Given the description of an element on the screen output the (x, y) to click on. 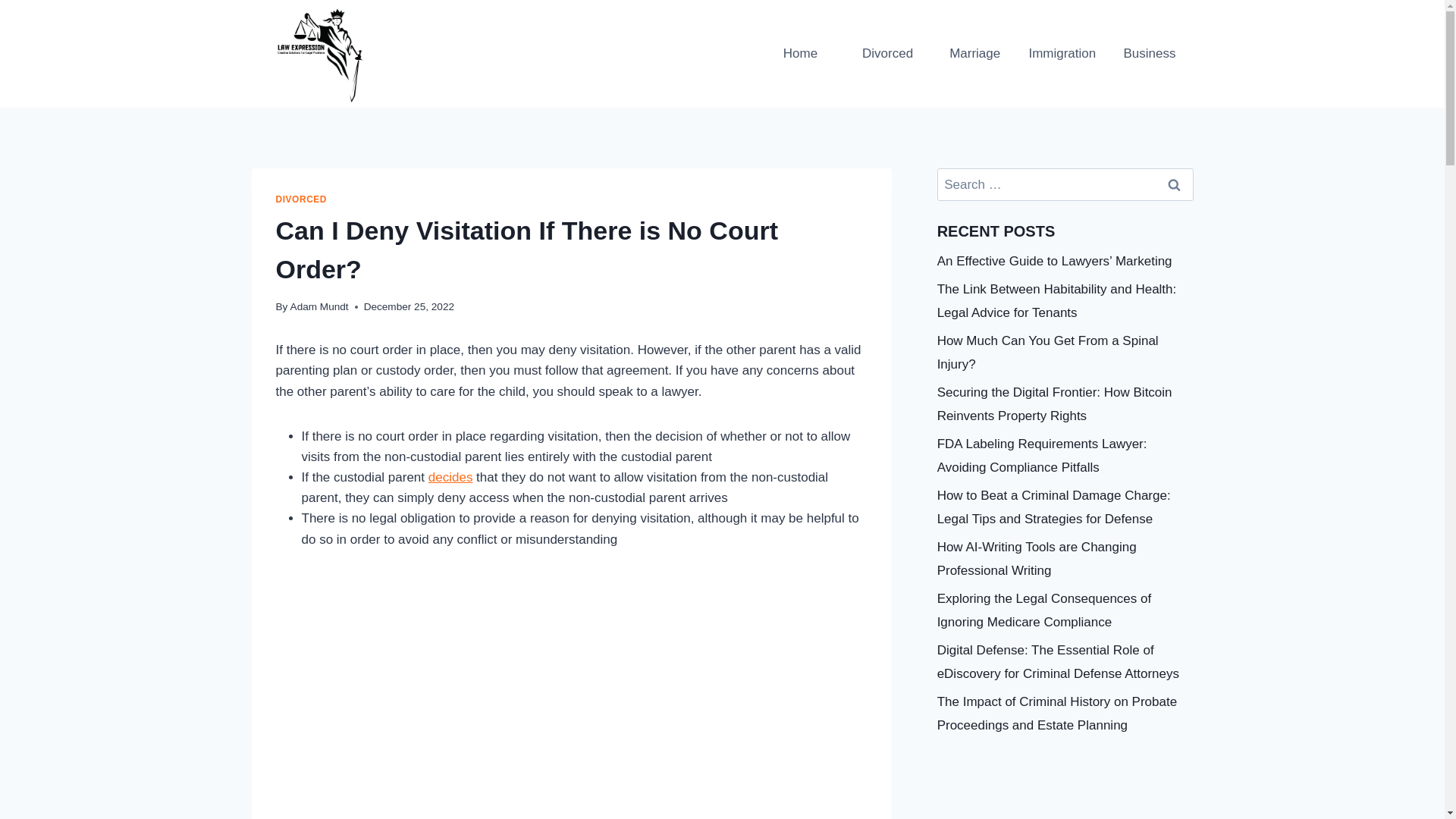
Divorced (887, 54)
DIVORCED (301, 199)
Search (1174, 184)
Marriage (974, 54)
Home (800, 54)
Immigration (1061, 54)
Search (1174, 184)
Adam Mundt (319, 306)
Advertisement (571, 680)
decides (450, 477)
Business (1148, 54)
